Given the description of an element on the screen output the (x, y) to click on. 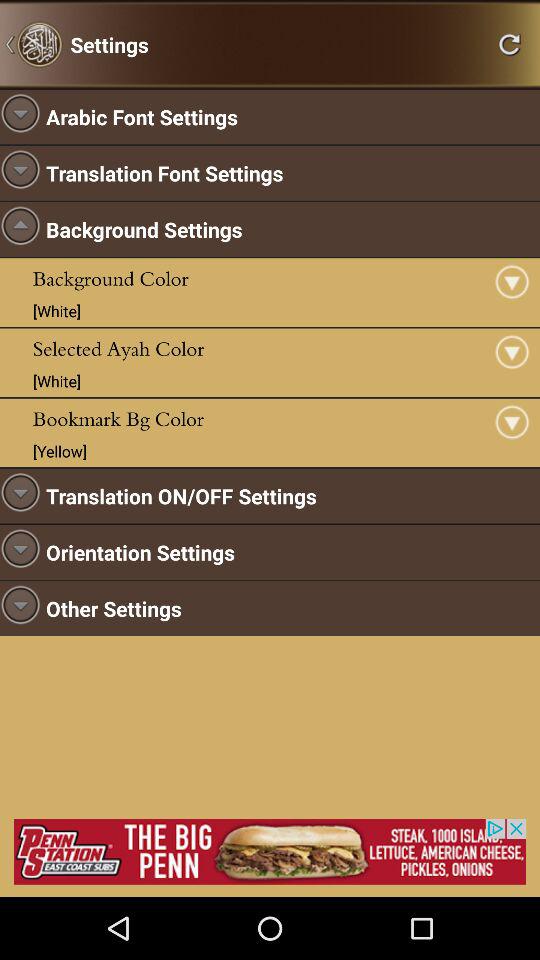
reload the page (509, 44)
